Given the description of an element on the screen output the (x, y) to click on. 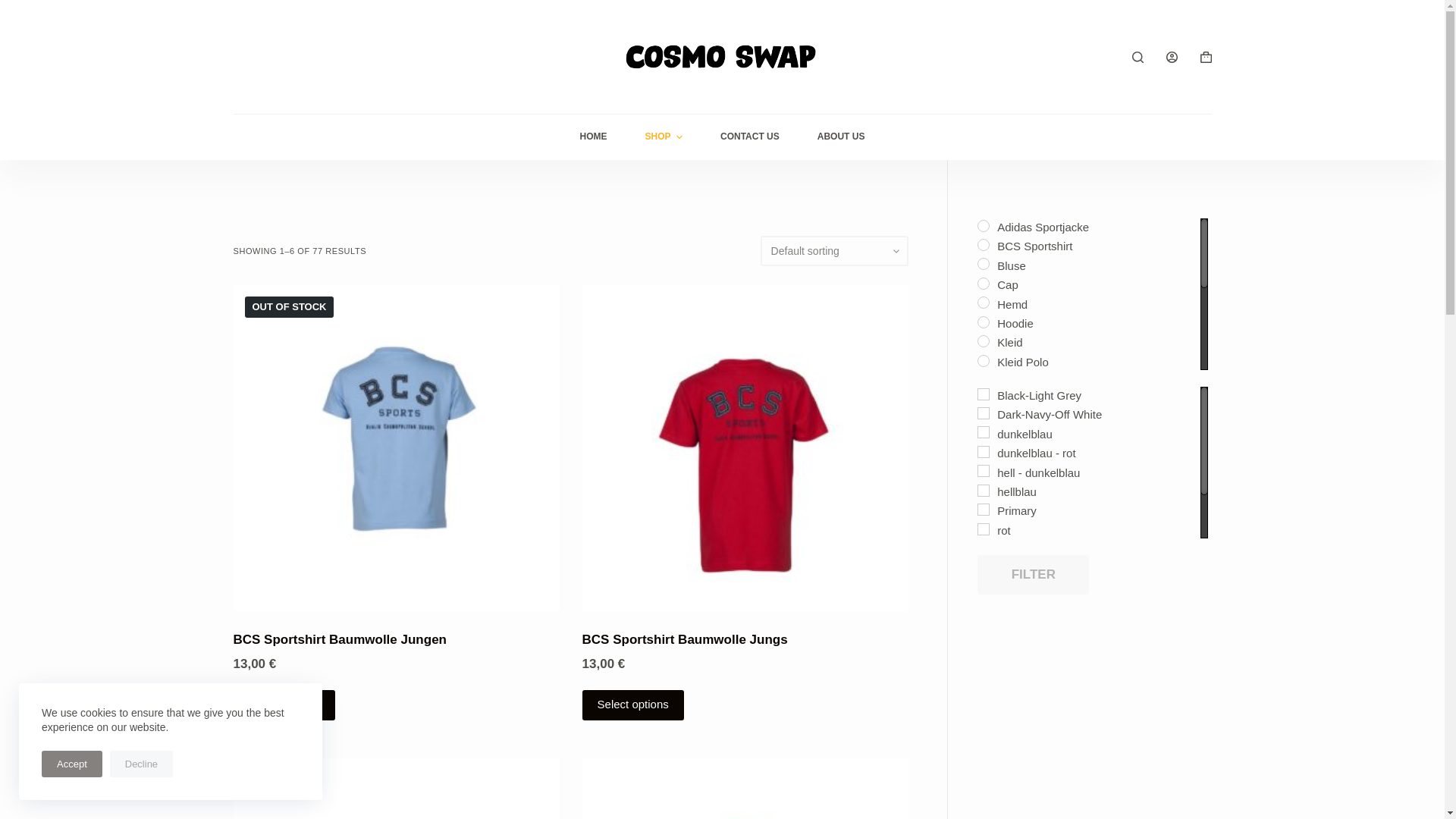
SHOP (663, 136)
Select options (283, 705)
ABOUT US (840, 136)
Accept (71, 764)
Decline (141, 764)
HOME (593, 136)
Skip to content (15, 7)
CONTACT US (749, 136)
